Given the description of an element on the screen output the (x, y) to click on. 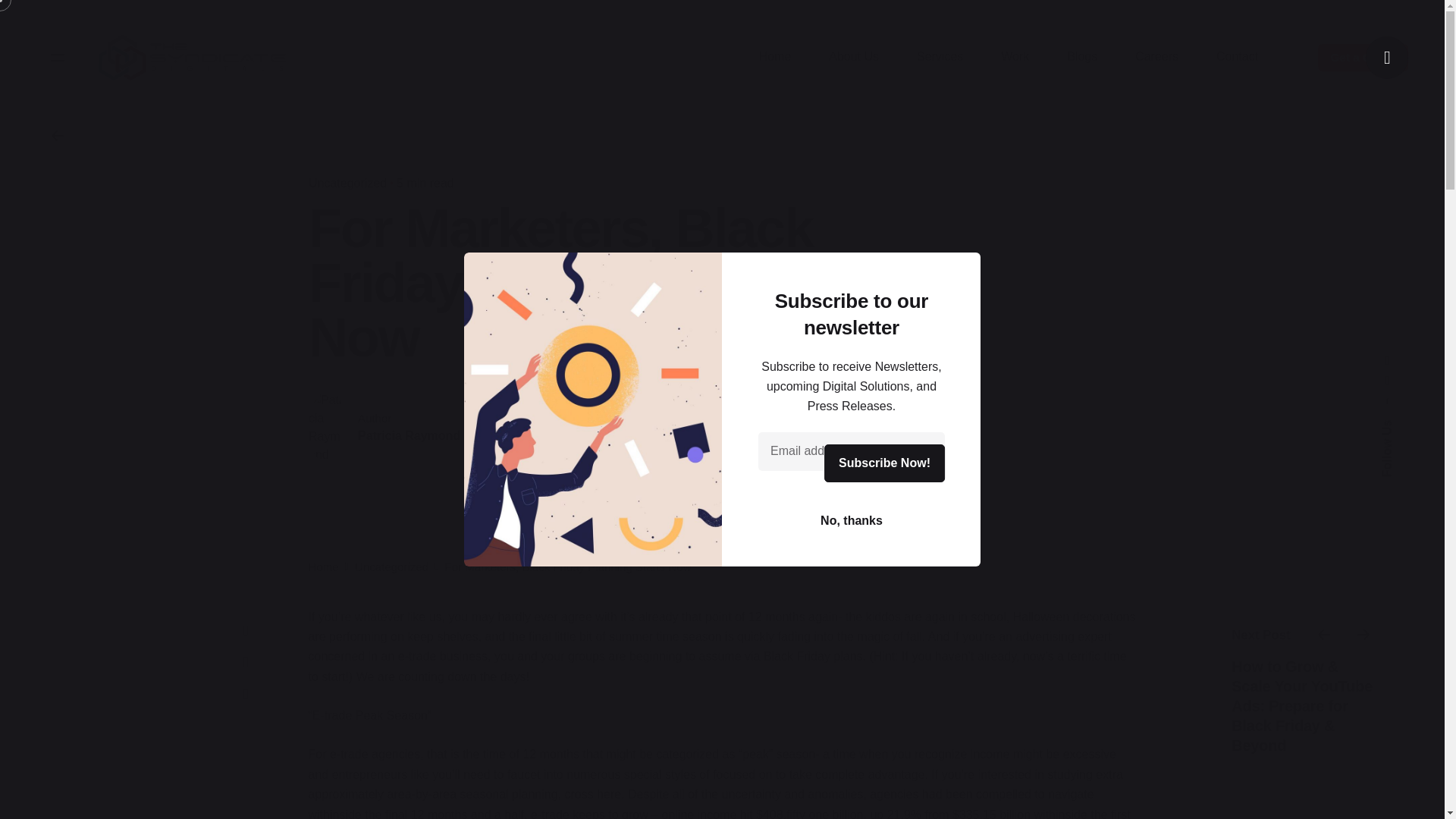
Uncategorized (346, 182)
Home (774, 57)
Get a Quote (1362, 57)
Home (322, 566)
Join the Conversation (678, 436)
Uncategorized (391, 566)
Work (1014, 57)
Contact (1236, 57)
Blogs (1082, 57)
About Us (853, 57)
Careers (1156, 57)
Services (939, 57)
